Given the description of an element on the screen output the (x, y) to click on. 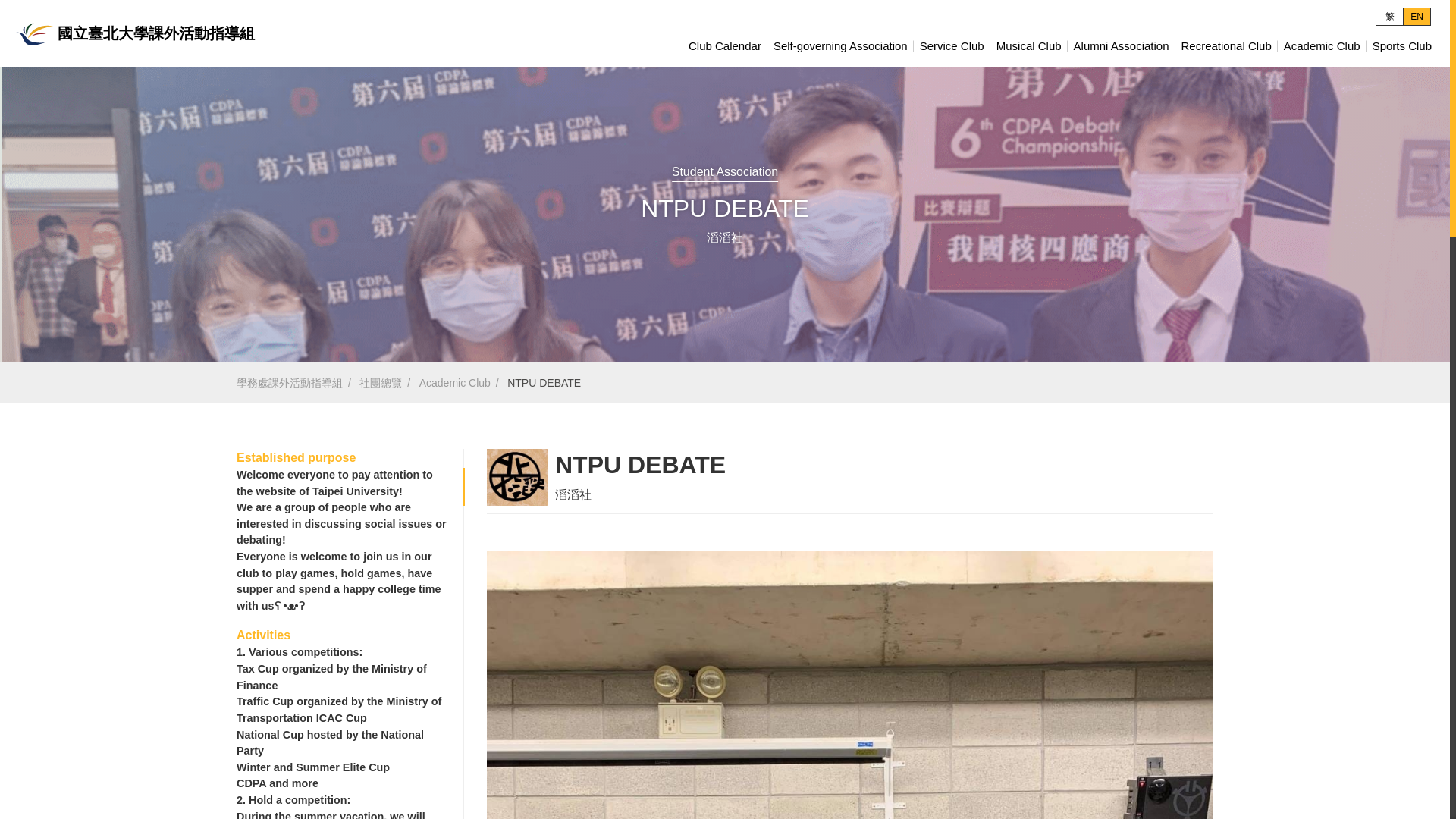
Club Calendar (724, 46)
EN (1416, 16)
Club Calendar (724, 46)
Self-governing Association (840, 46)
Service Club (952, 46)
Self-governing Association (840, 46)
